Given the description of an element on the screen output the (x, y) to click on. 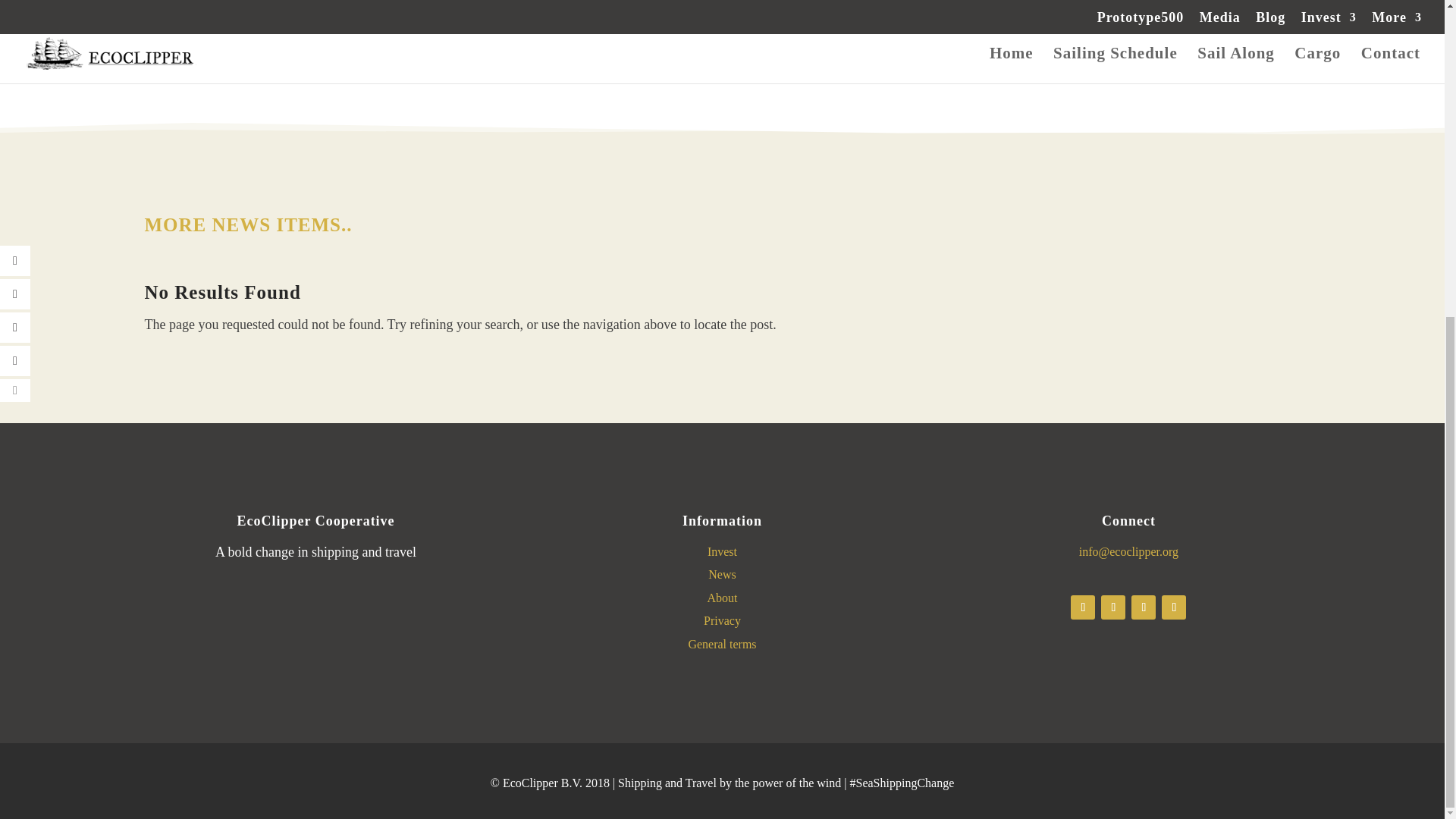
Tweet this (587, 21)
Invest (721, 551)
Invest page (721, 551)
About EcoClipper (721, 597)
Follow on Facebook (1082, 607)
Follow on X (1112, 607)
Follow on LinkedIn (1173, 607)
Privacy statement (722, 620)
News (721, 574)
Like (775, 21)
